Given the description of an element on the screen output the (x, y) to click on. 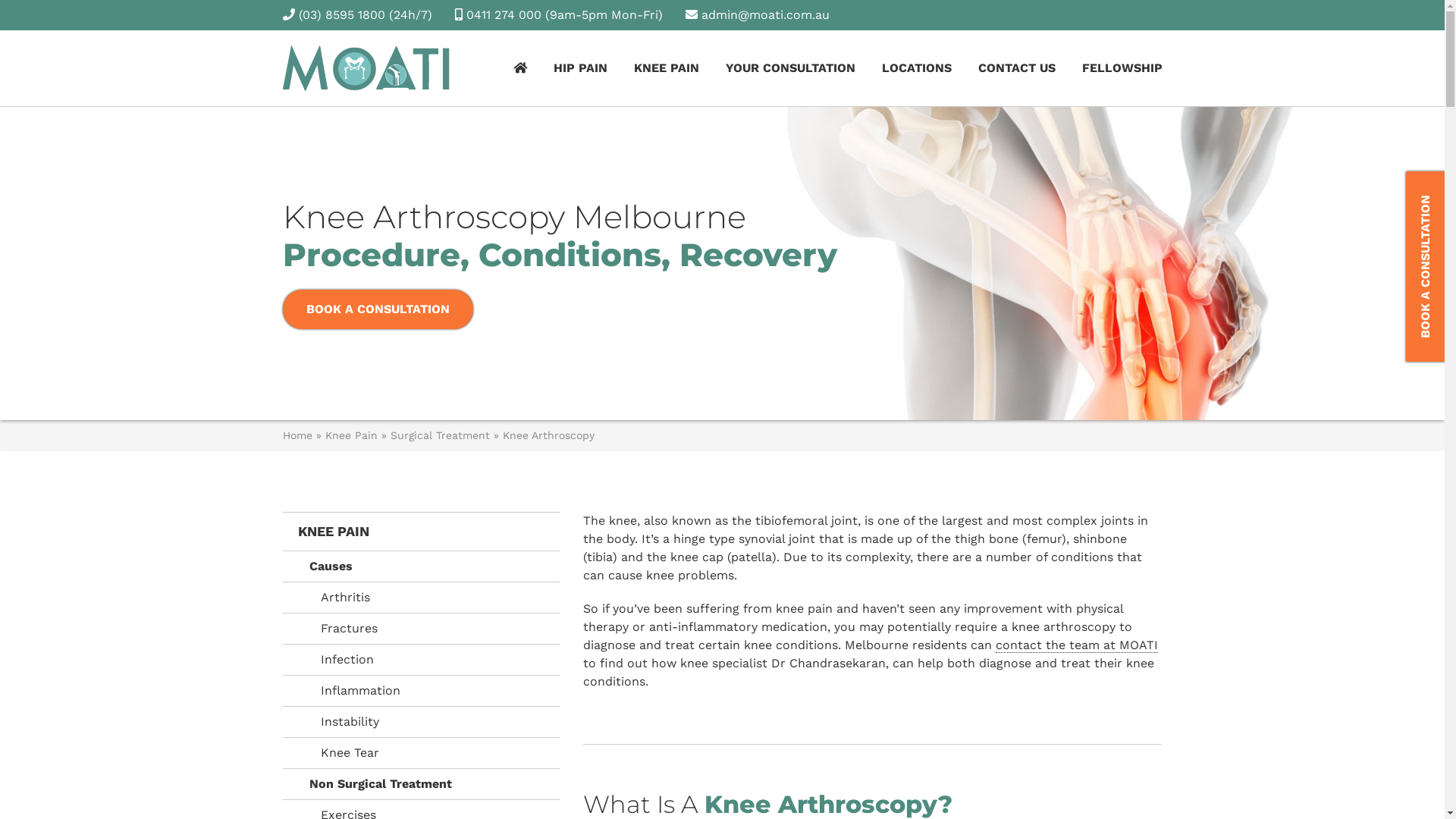
Arthritis Element type: text (421, 597)
0411 274 000 Element type: text (502, 14)
KNEE PAIN Element type: text (666, 68)
Home Element type: text (296, 435)
Knee Tear Element type: text (421, 752)
CONTACT US Element type: text (1016, 68)
contact the team at MOATI Element type: text (1076, 644)
Inflammation Element type: text (421, 690)
Instability Element type: text (421, 721)
Fractures Element type: text (421, 628)
(03) 8595 1800 Element type: text (341, 14)
admin@moati.com.au Element type: text (764, 14)
KNEE PAIN Element type: text (421, 531)
FELLOWSHIP Element type: text (1121, 68)
LOCATIONS Element type: text (915, 68)
YOUR CONSULTATION Element type: text (789, 68)
HIP PAIN Element type: text (580, 68)
Infection Element type: text (421, 659)
Surgical Treatment Element type: text (439, 435)
Non Surgical Treatment Element type: text (421, 784)
Causes Element type: text (421, 566)
BOOK A CONSULTATION Element type: text (377, 309)
Knee Pain Element type: text (350, 435)
